Given the description of an element on the screen output the (x, y) to click on. 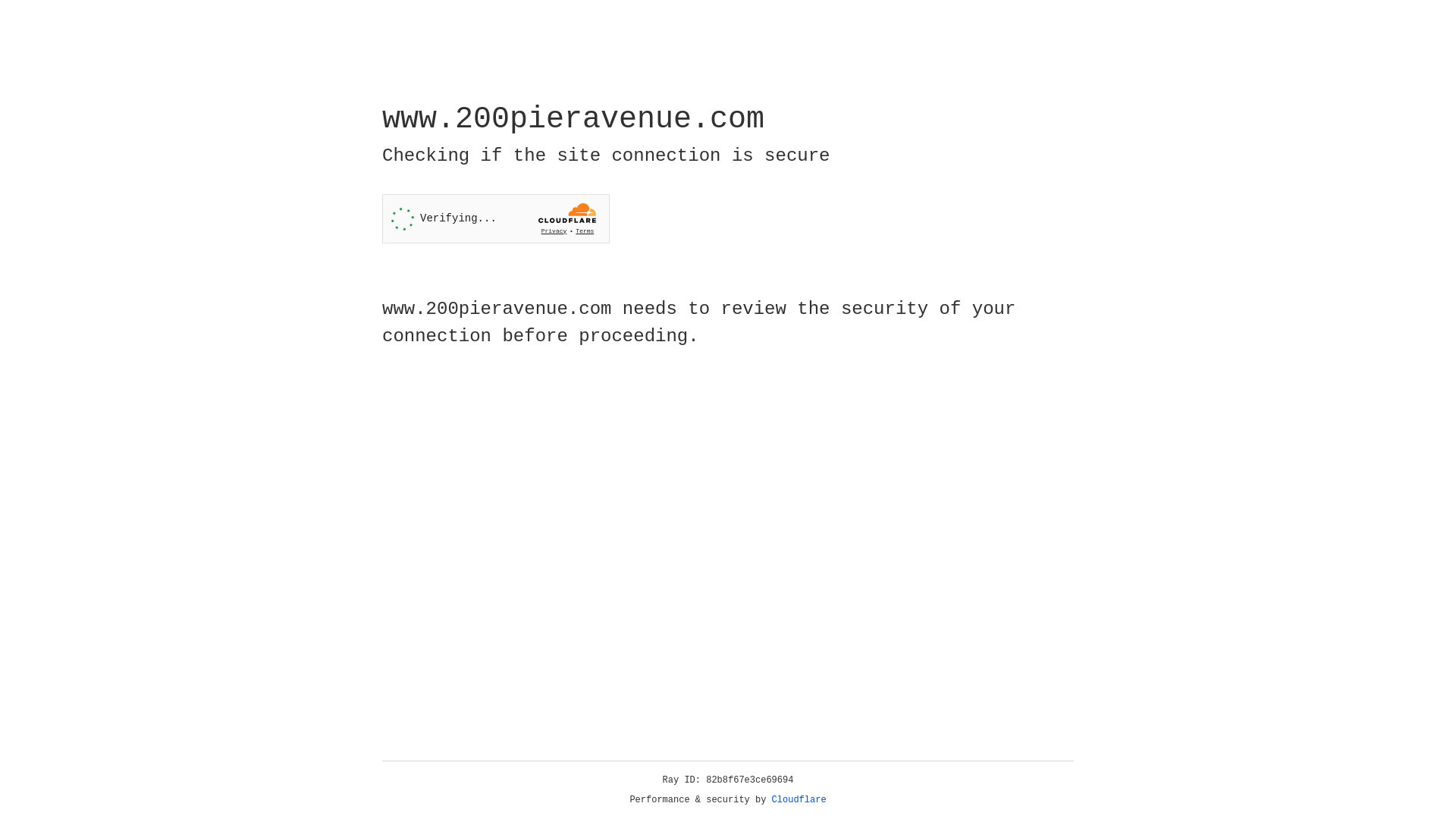
Widget containing a Cloudflare security challenge Element type: hover (495, 218)
Cloudflare Element type: text (798, 799)
